Given the description of an element on the screen output the (x, y) to click on. 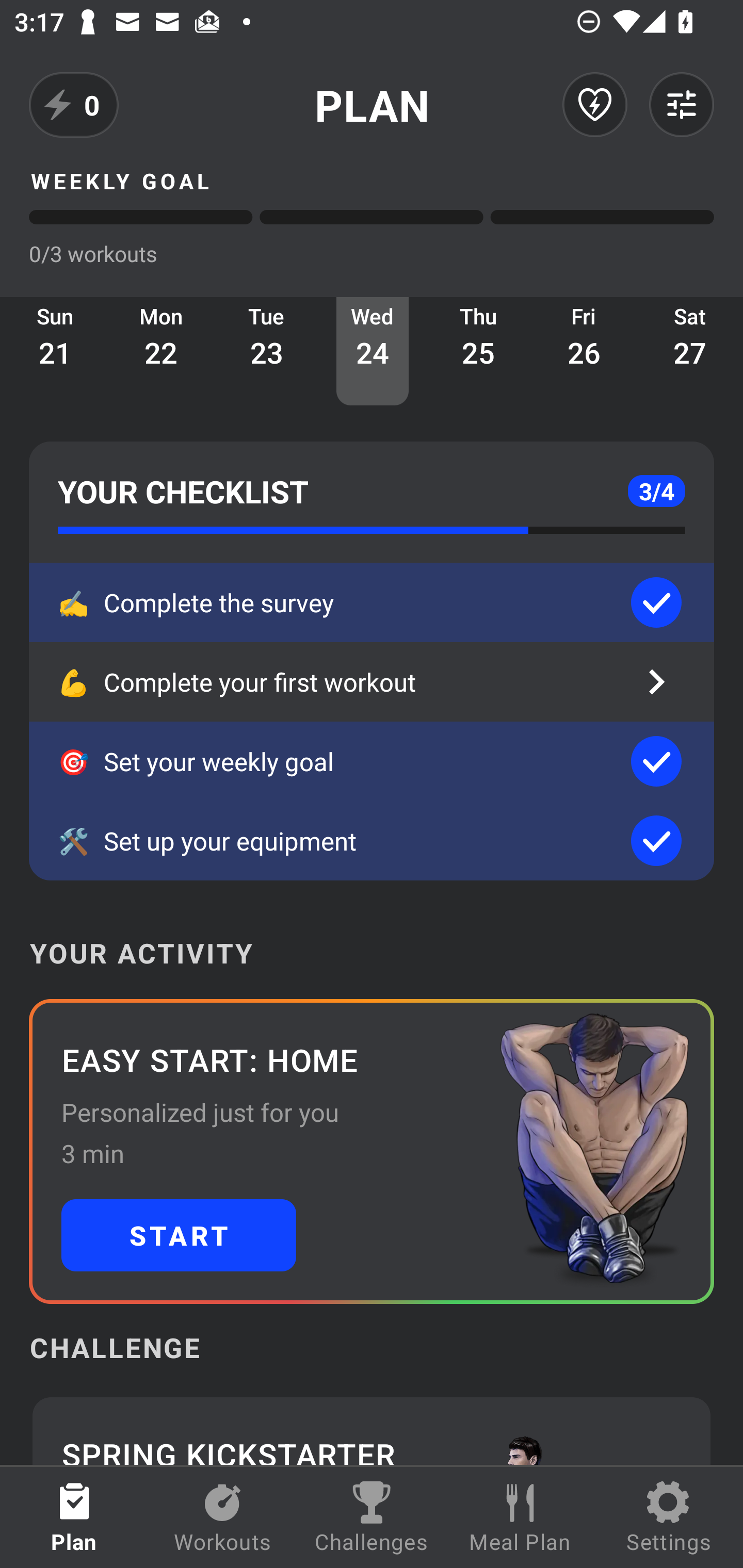
0 (73, 104)
Sun 21 (55, 351)
Mon 22 (160, 351)
Tue 23 (266, 351)
Wed 24 (372, 351)
Thu 25 (478, 351)
Fri 26 (584, 351)
Sat 27 (690, 351)
💪 Complete your first workout (371, 681)
START (178, 1235)
 Workouts  (222, 1517)
 Challenges  (371, 1517)
 Meal Plan  (519, 1517)
 Settings  (668, 1517)
